Given the description of an element on the screen output the (x, y) to click on. 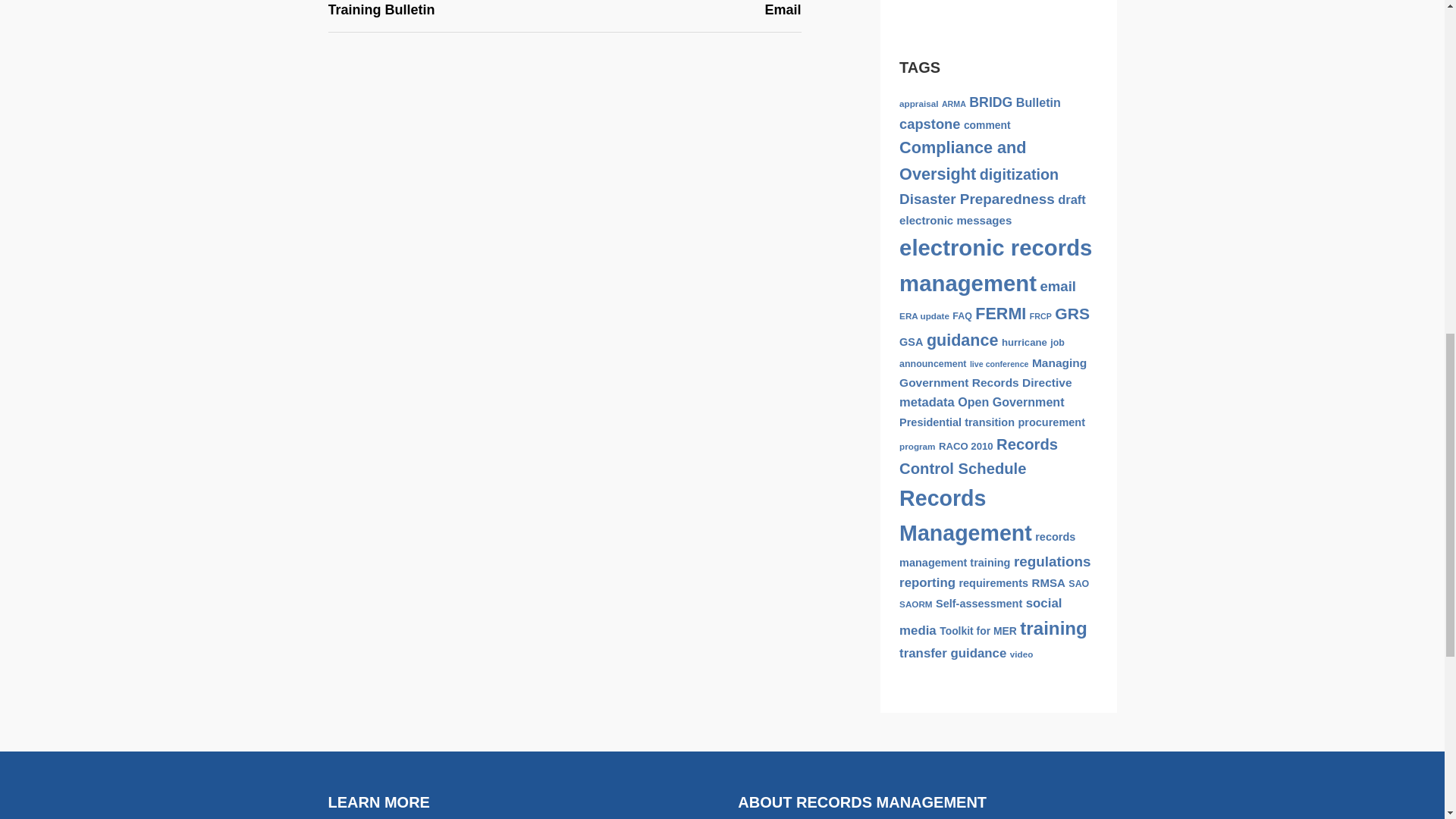
BRIDG (990, 102)
job announcement (981, 353)
digitization (1018, 174)
ARMA (954, 103)
appraisal (918, 103)
capstone (929, 123)
hurricane (1023, 342)
electronic messages (955, 219)
electronic records management (995, 265)
